Given the description of an element on the screen output the (x, y) to click on. 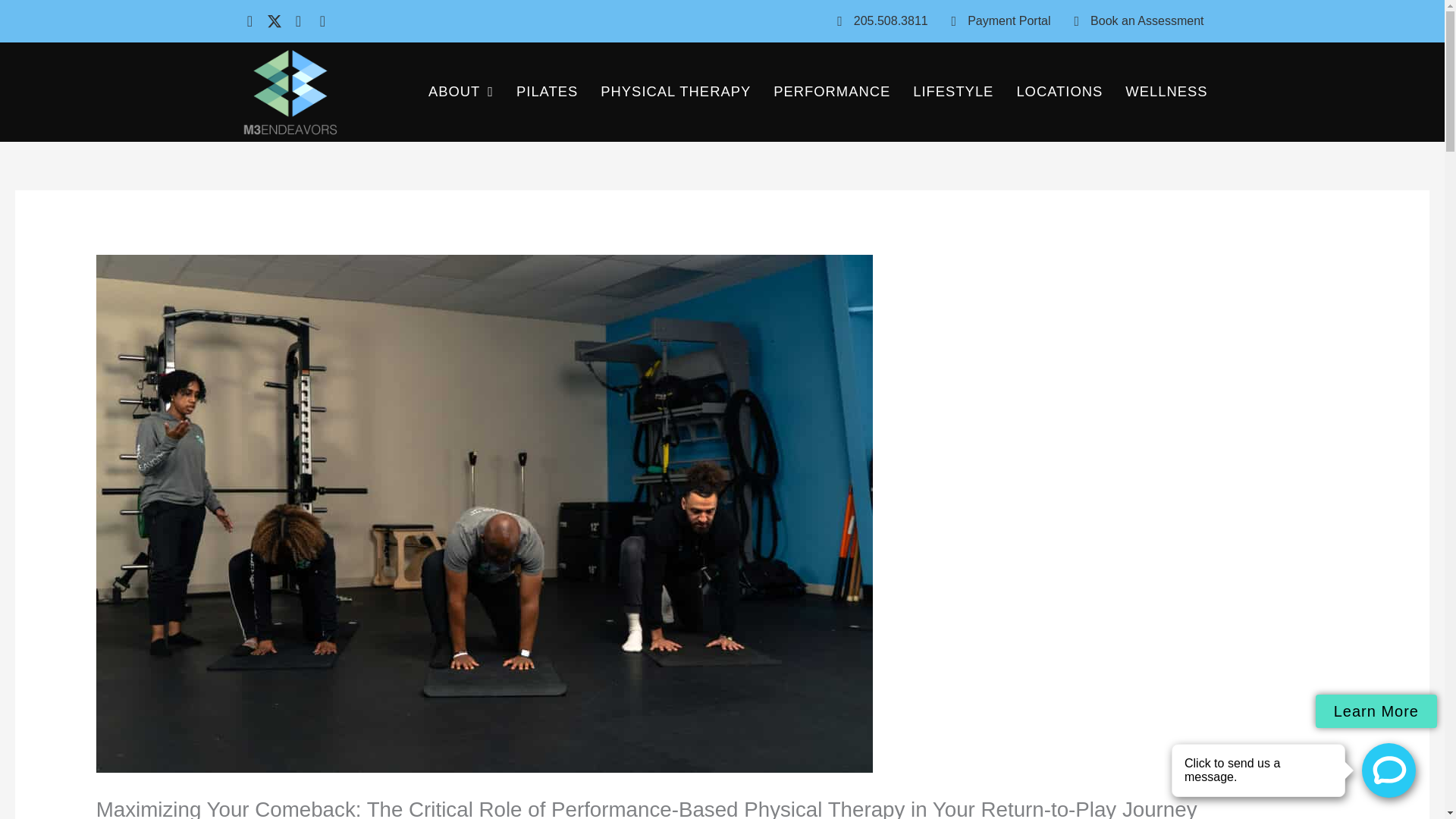
205.508.3811 (876, 20)
Youtube (322, 21)
LIFESTYLE (952, 91)
Instagram (298, 21)
PERFORMANCE (831, 91)
LOCATIONS (1059, 91)
Payment Portal (995, 20)
PHYSICAL THERAPY (675, 91)
ABOUT (460, 91)
WELLNESS (1166, 91)
PILATES (547, 91)
Facebook (250, 21)
Book an Assessment (1133, 20)
